Given the description of an element on the screen output the (x, y) to click on. 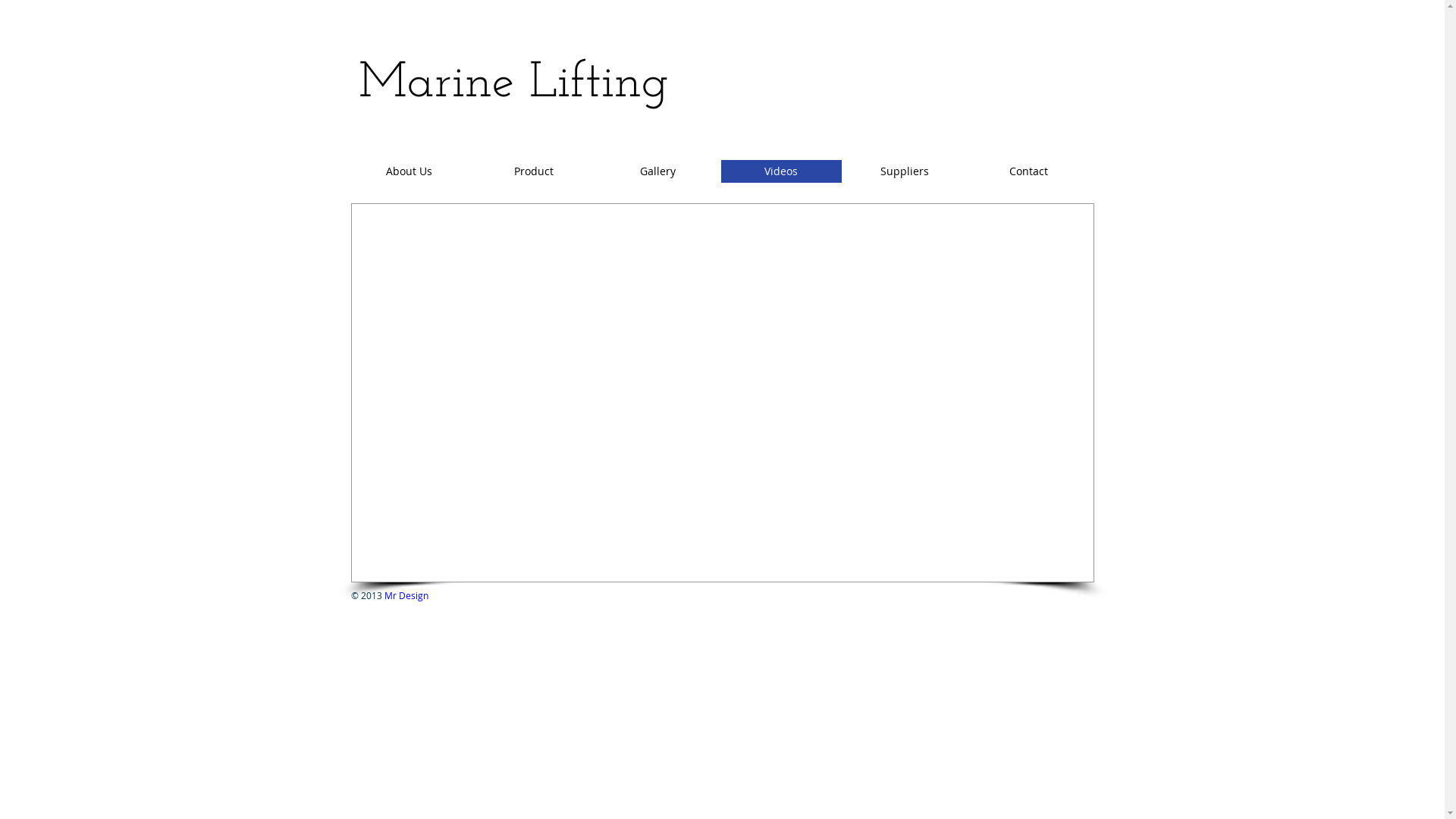
Videos Element type: text (780, 171)
Gallery Element type: text (657, 171)
About Us Element type: text (409, 171)
External YouTube Element type: hover (887, 335)
External YouTube Element type: hover (554, 335)
Product Element type: text (533, 171)
Suppliers Element type: text (904, 171)
Mr Design Element type: text (405, 595)
Contact Element type: text (1027, 171)
